Given the description of an element on the screen output the (x, y) to click on. 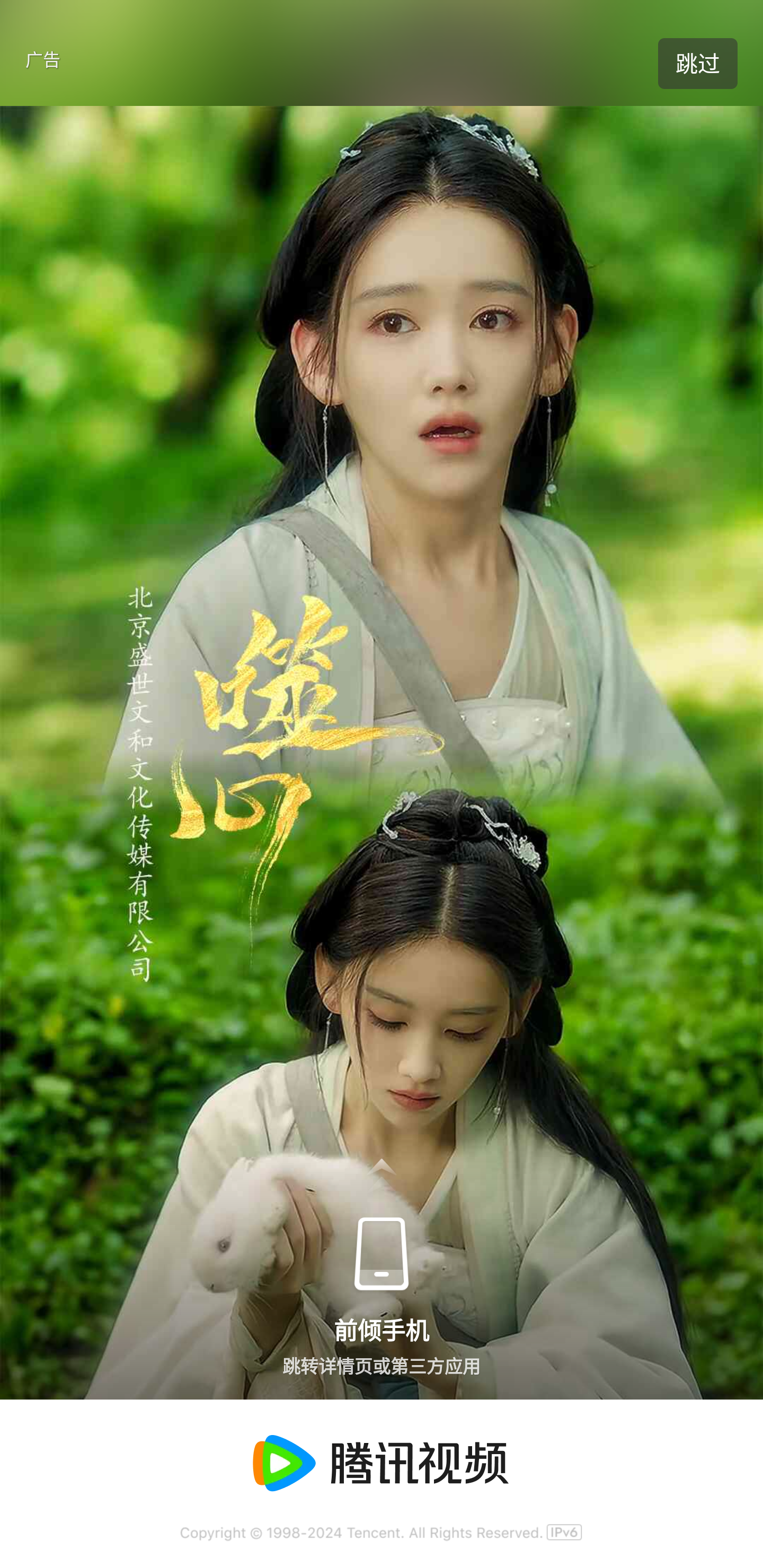
首页 (47, 77)
跳过 (697, 63)
